Given the description of an element on the screen output the (x, y) to click on. 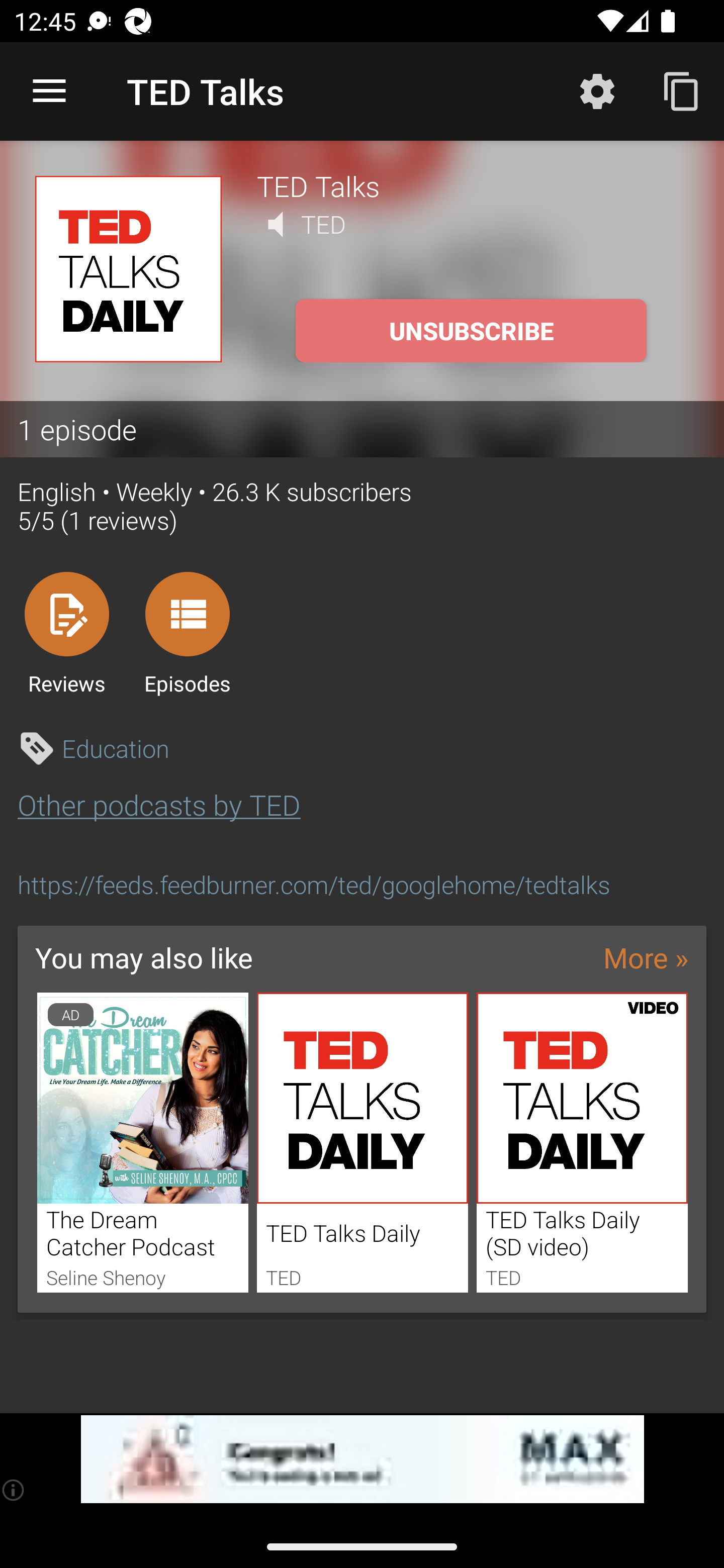
Open navigation sidebar (49, 91)
Settings (597, 90)
Copy feed url to clipboard (681, 90)
TED Talks (472, 185)
UNSUBSCRIBE (470, 330)
Reviews (66, 633)
Episodes (187, 633)
Other podcasts by TED (158, 804)
More » (645, 956)
AD The Dream Catcher Podcast Seline Shenoy (142, 1142)
TED Talks Daily TED (362, 1142)
TED Talks Daily (SD video) TED (581, 1142)
app-monetization (362, 1459)
(i) (14, 1489)
